Given the description of an element on the screen output the (x, y) to click on. 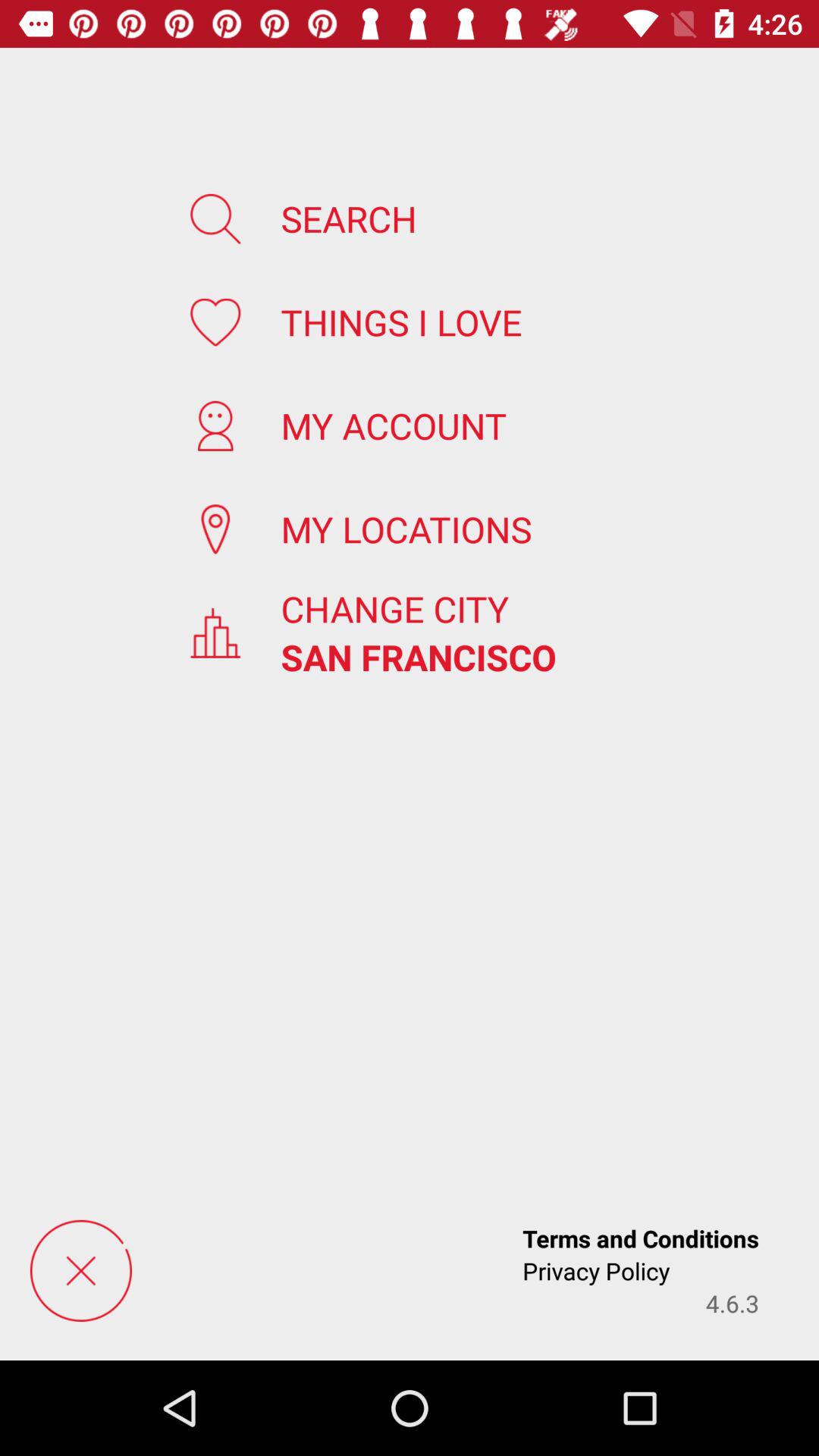
launch item next to the privacy policy item (732, 1303)
